Given the description of an element on the screen output the (x, y) to click on. 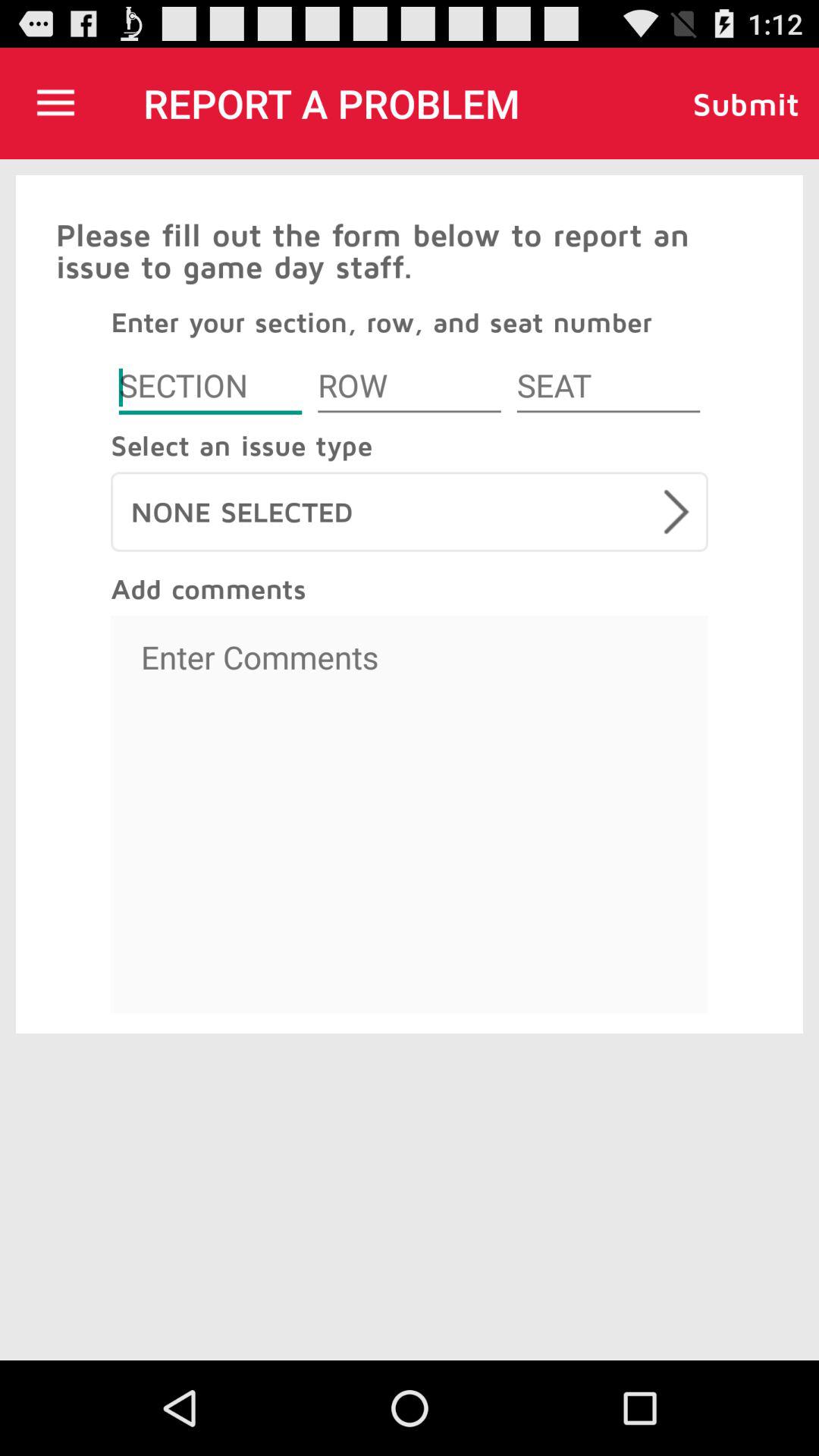
press the app to the left of report a problem (55, 103)
